Given the description of an element on the screen output the (x, y) to click on. 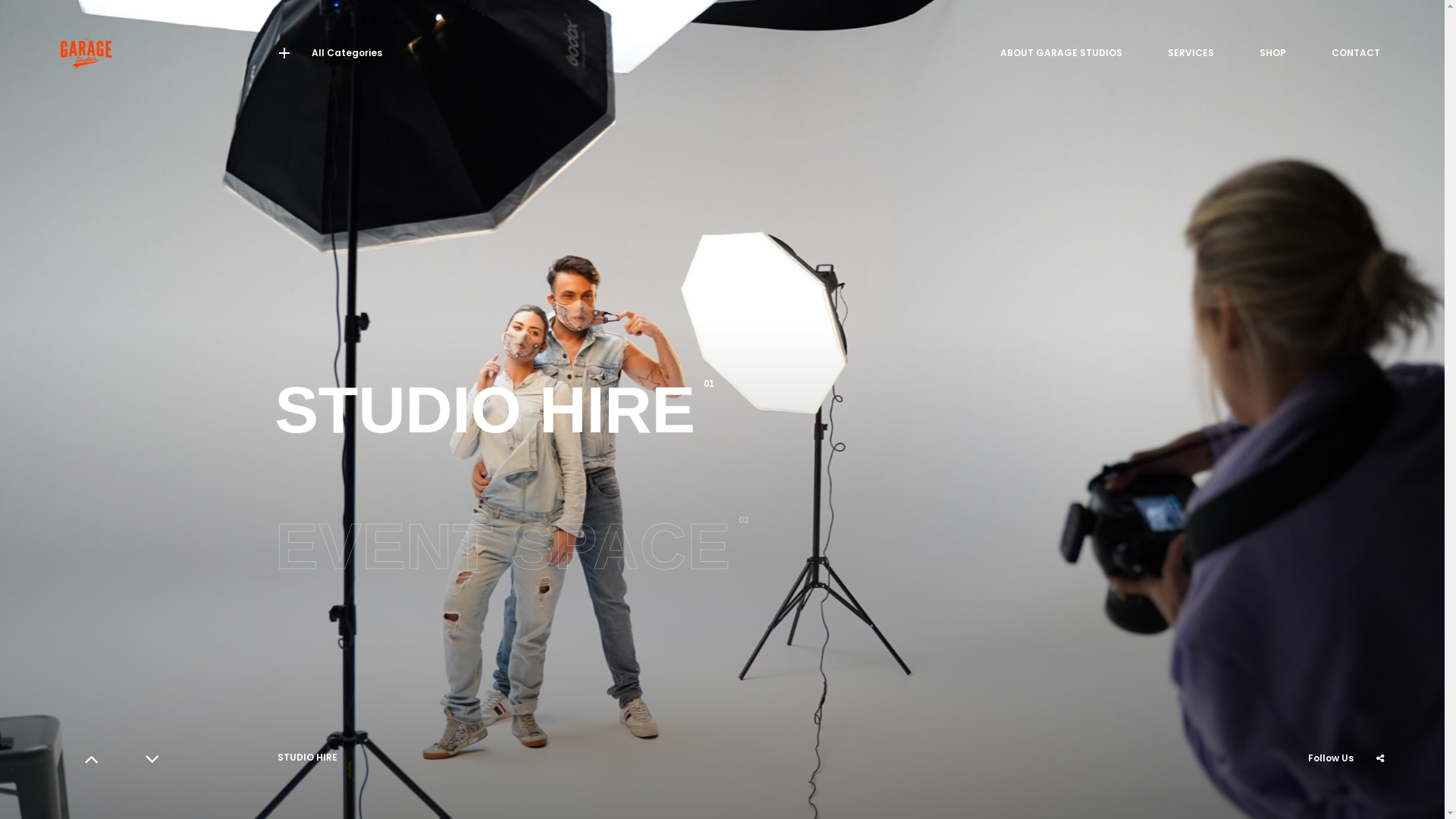
ABOUT GARAGE STUDIOS Element type: text (1061, 52)
SERVICES Element type: text (1190, 52)
CONTACT Element type: text (1355, 52)
SHOP Element type: text (1272, 52)
